Given the description of an element on the screen output the (x, y) to click on. 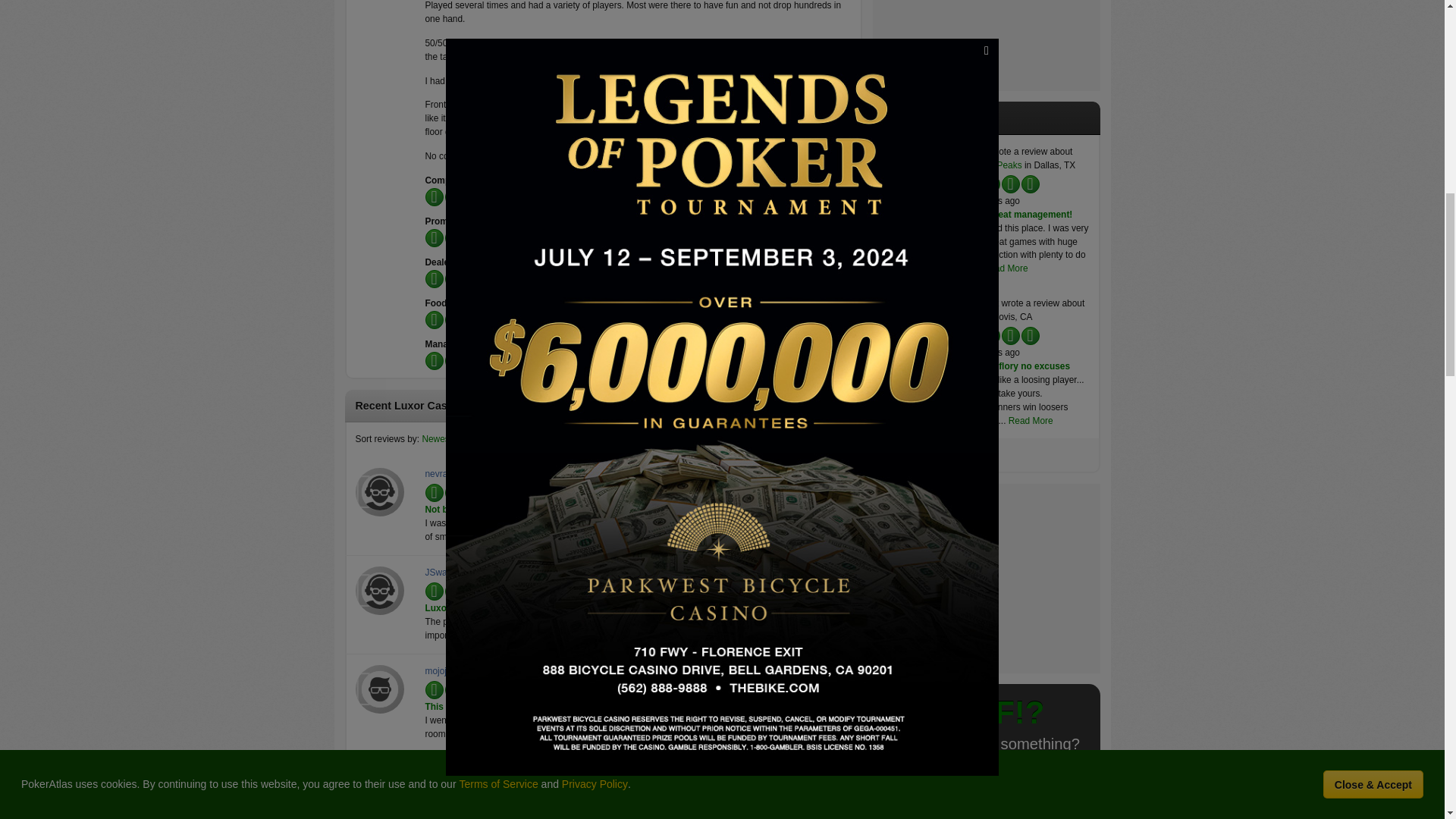
3 (453, 194)
3 (453, 235)
4 (453, 235)
Aug 12, 2016 (556, 588)
5 (453, 235)
2 (453, 235)
1 (453, 194)
2 (453, 194)
Mar 23, 2017 (555, 489)
Jun 16, 2016 (554, 686)
5 (453, 194)
4 (453, 194)
Dec 20, 2015 (556, 785)
